Given the description of an element on the screen output the (x, y) to click on. 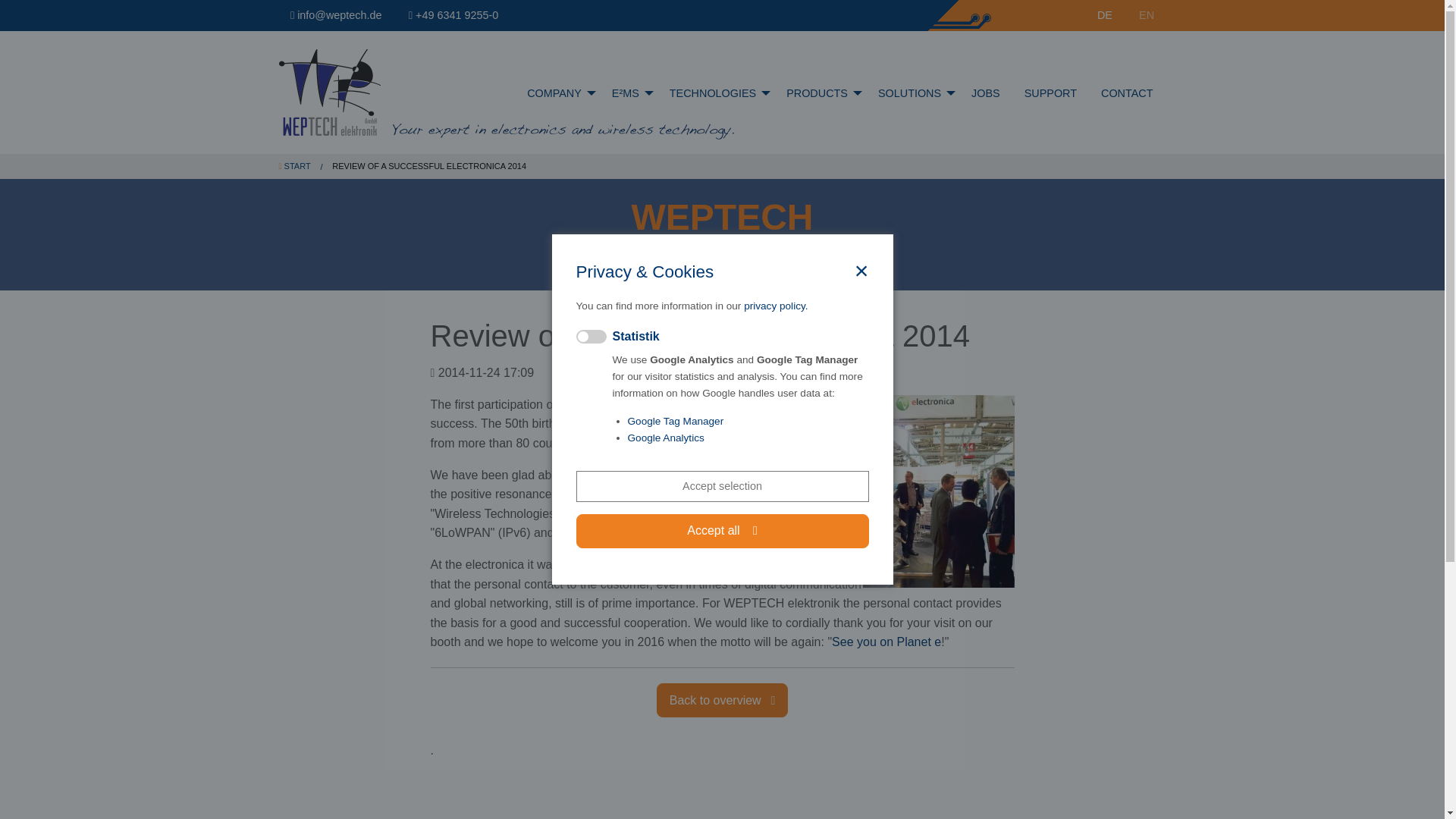
COMPANY (557, 93)
TECHNOLOGIES (716, 93)
CONTACT (1126, 93)
Artikel (1104, 15)
Wireless Technologies (716, 93)
SOLUTIONS (912, 93)
PRODUCTS (820, 93)
SUPPORT (1050, 93)
call us. (452, 15)
DE (1104, 15)
